Given the description of an element on the screen output the (x, y) to click on. 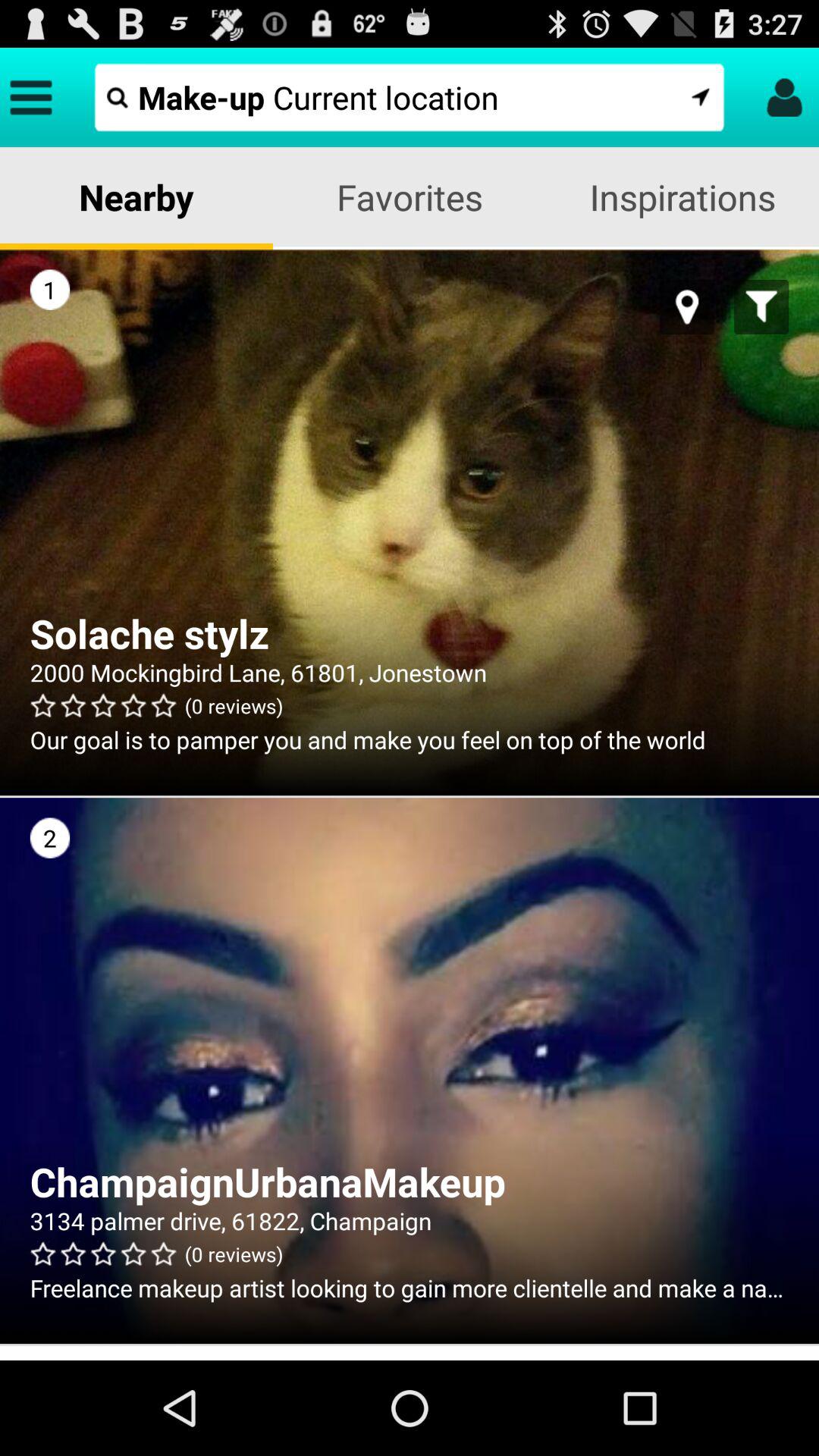
turn on icon next to the nearby item (409, 196)
